Given the description of an element on the screen output the (x, y) to click on. 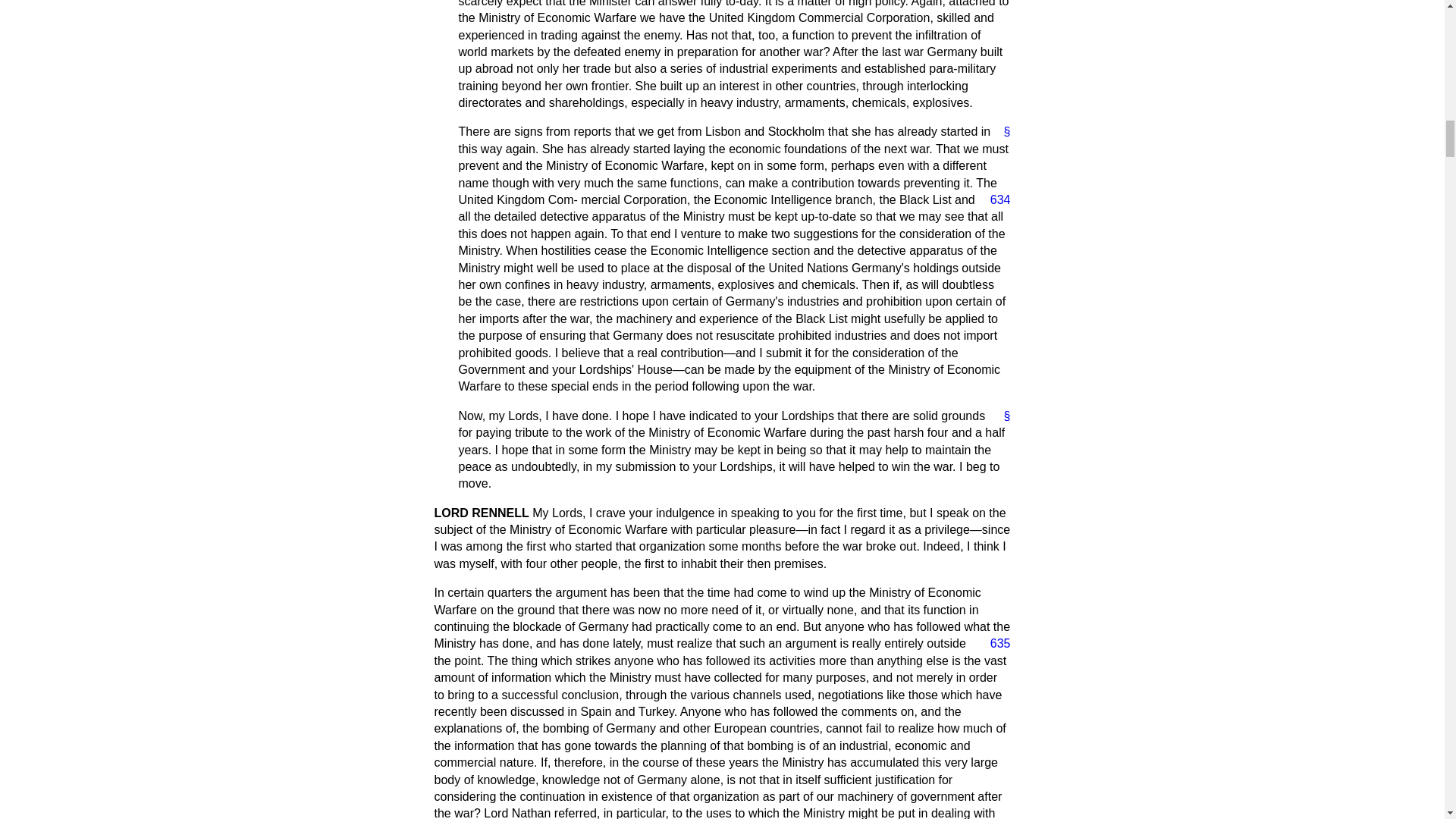
635 (994, 643)
634 (994, 199)
Link to this contribution (1000, 131)
